Given the description of an element on the screen output the (x, y) to click on. 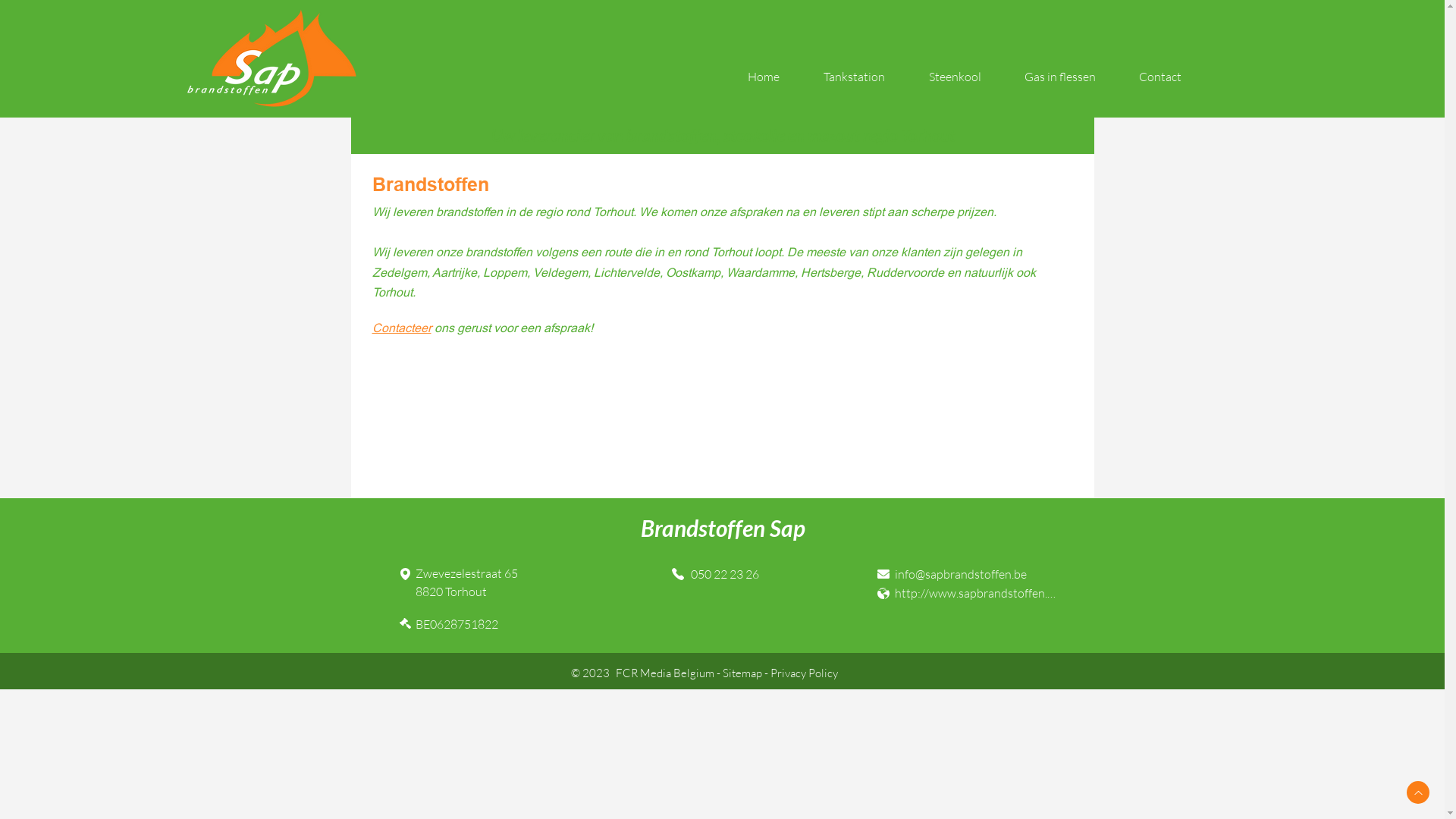
FCR Media Belgium Element type: text (664, 672)
Steenkool Element type: text (955, 76)
Sitemap Element type: text (741, 672)
Tankstation Element type: text (853, 76)
Contacteer Element type: text (400, 327)
http://www.sapbrandstoffen.be Element type: text (976, 592)
info@sapbrandstoffen.be Element type: text (976, 573)
Home Element type: text (763, 76)
Contact Element type: text (1160, 76)
050 22 23 26 Element type: text (722, 573)
Gas in flessen Element type: text (1060, 76)
Privacy Policy Element type: text (803, 672)
